Given the description of an element on the screen output the (x, y) to click on. 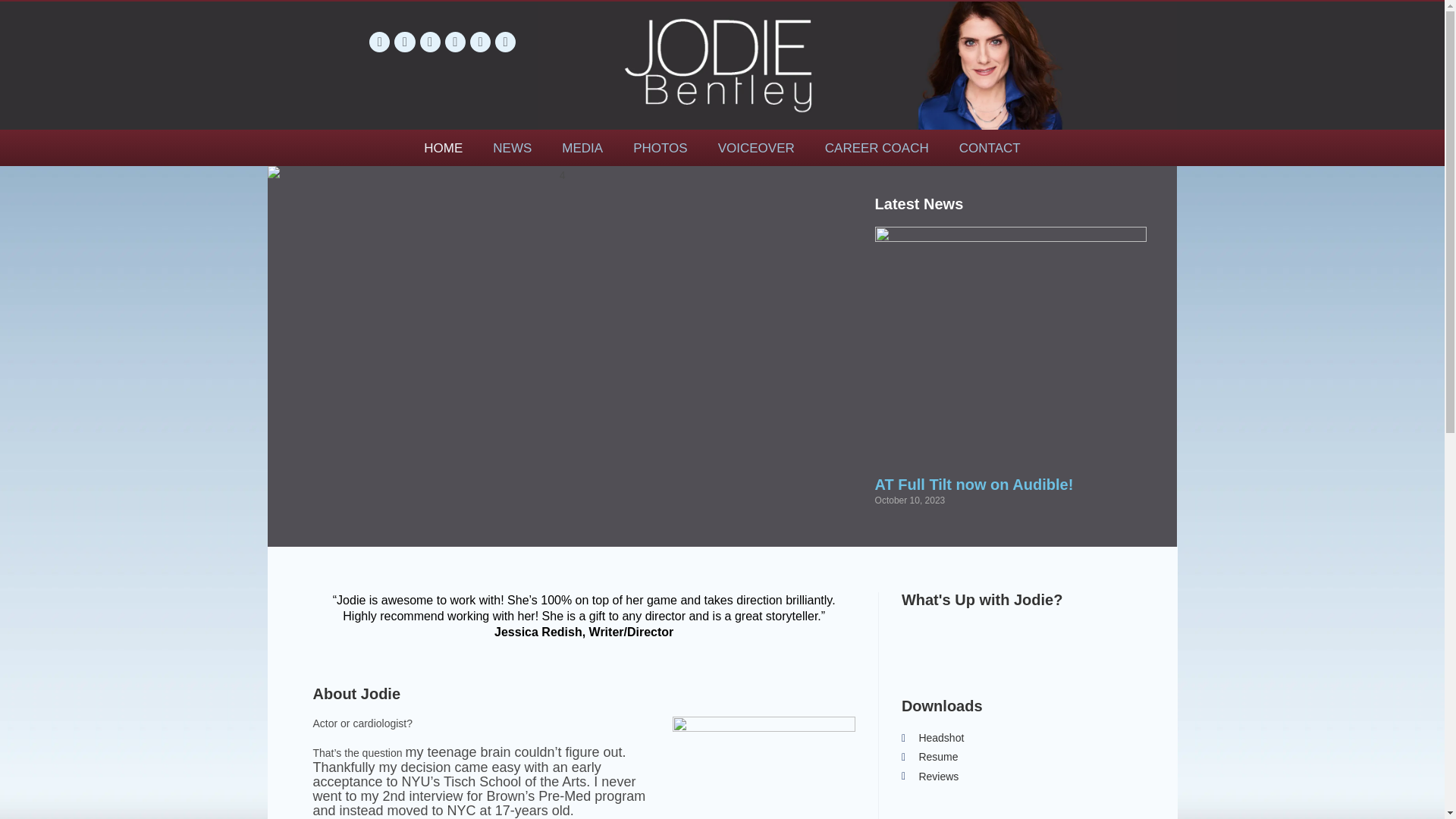
Headshot (1016, 737)
HOME (443, 148)
CAREER COACH (876, 148)
Resume (1016, 756)
VOICEOVER (756, 148)
AT Full Tilt now on Audible! (974, 484)
MEDIA (582, 148)
PHOTOS (659, 148)
NEWS (512, 148)
Reviews (1016, 776)
CONTACT (989, 148)
